Given the description of an element on the screen output the (x, y) to click on. 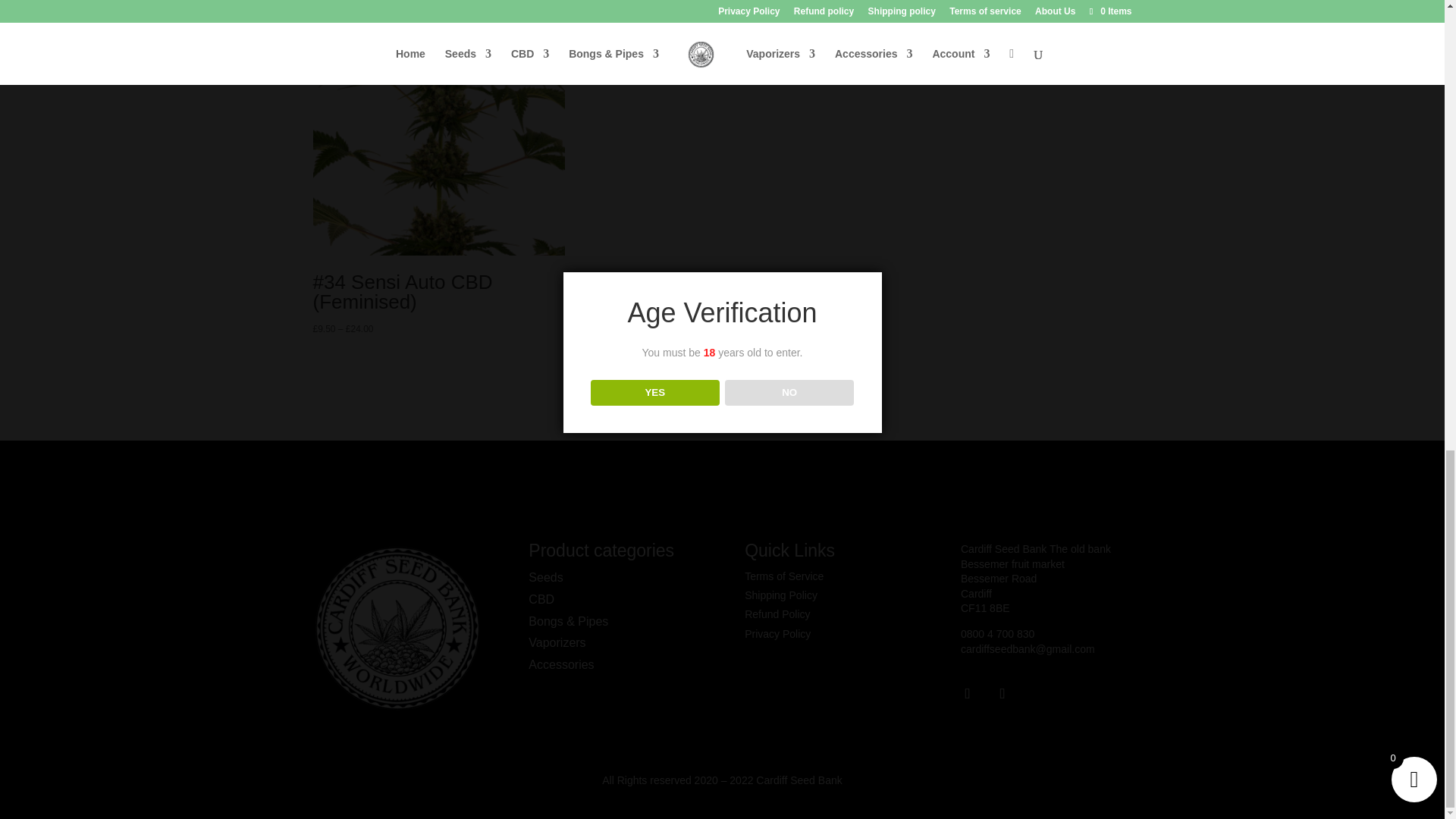
Follow on Instagram (1002, 693)
bglogo-min (398, 627)
Follow on Facebook (967, 693)
